Given the description of an element on the screen output the (x, y) to click on. 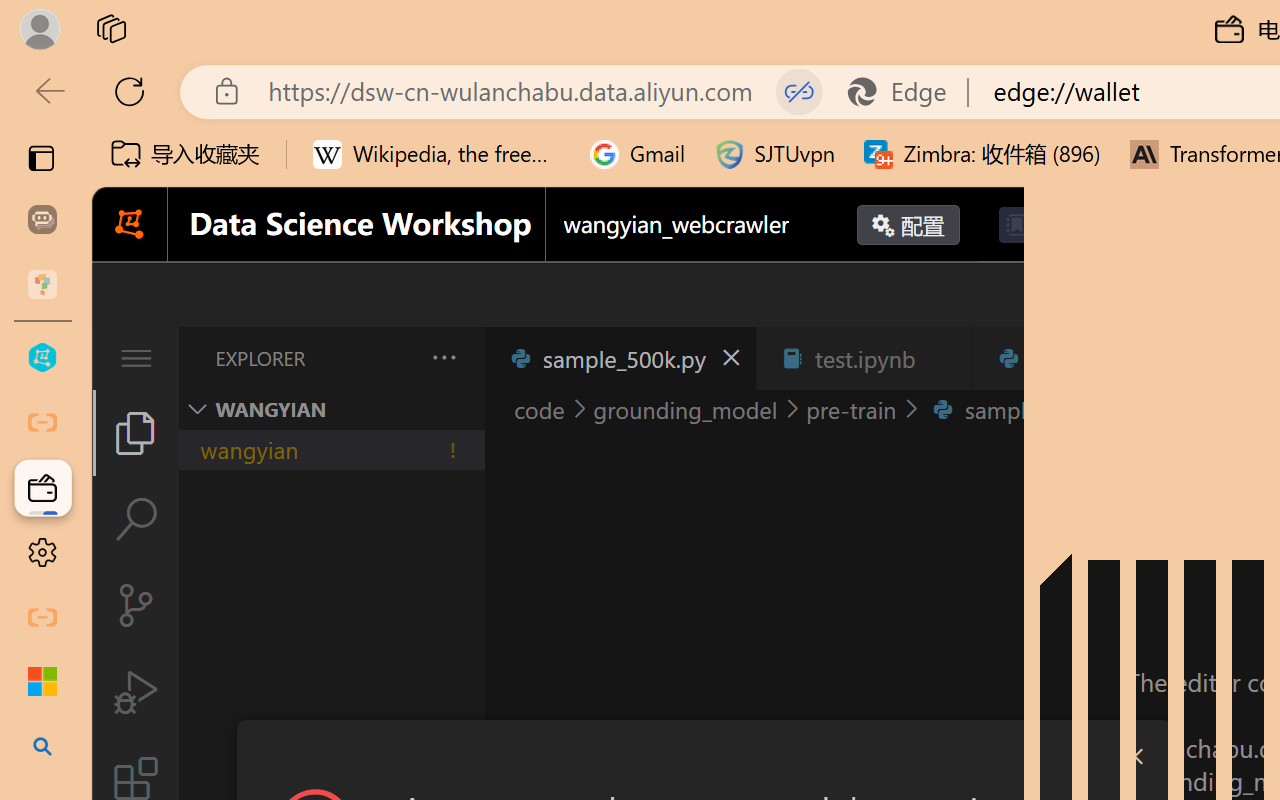
json2jsonl.py (1092, 358)
Explorer (Ctrl+Shift+E) (135, 432)
Wikipedia, the free encyclopedia (437, 154)
Microsoft security help and learning (42, 681)
sample_500k.py (619, 358)
Edge (905, 91)
Explorer actions (391, 358)
